Given the description of an element on the screen output the (x, y) to click on. 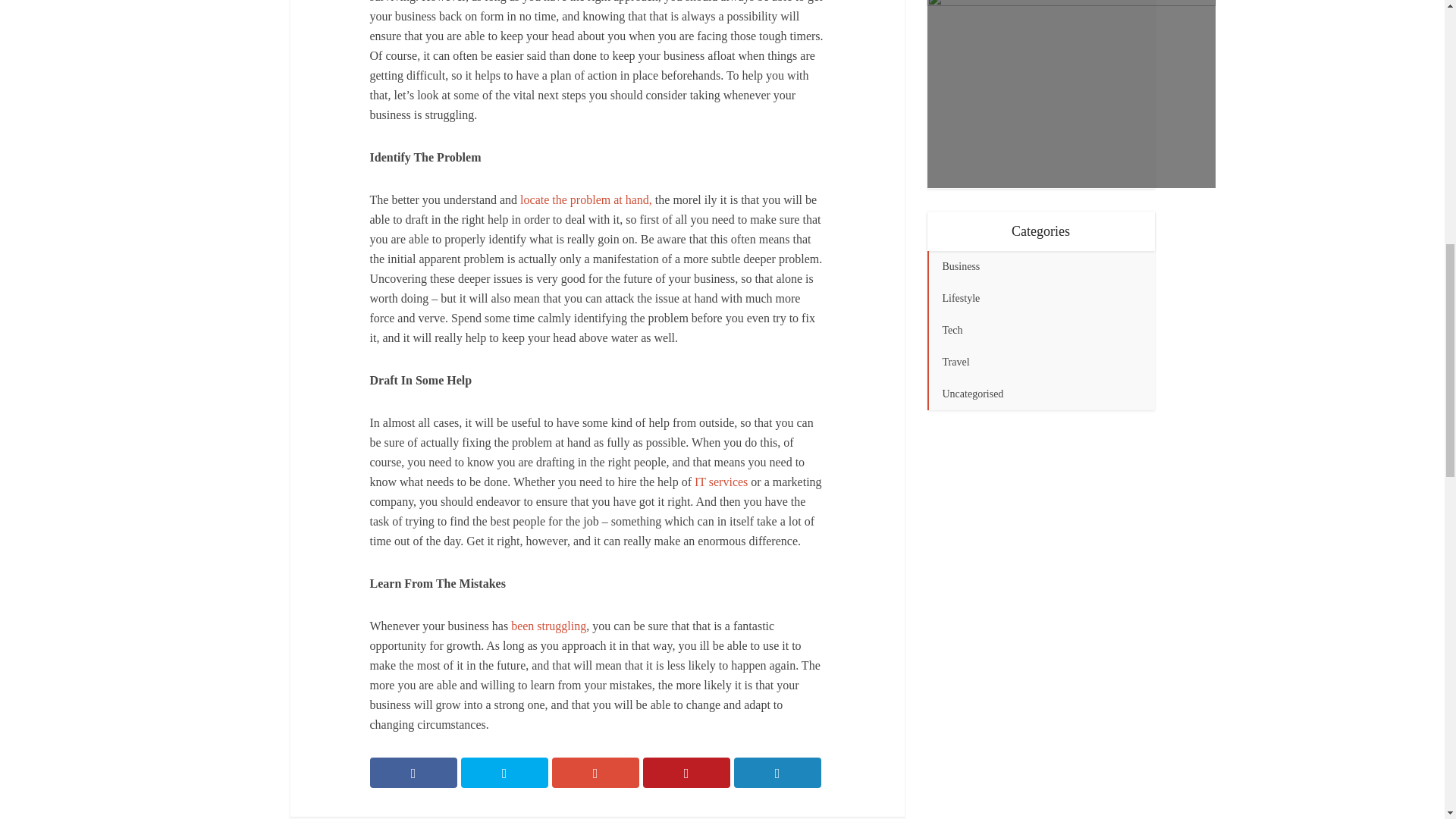
IT services (721, 481)
been struggling (548, 625)
locate the problem at hand, (585, 199)
